Given the description of an element on the screen output the (x, y) to click on. 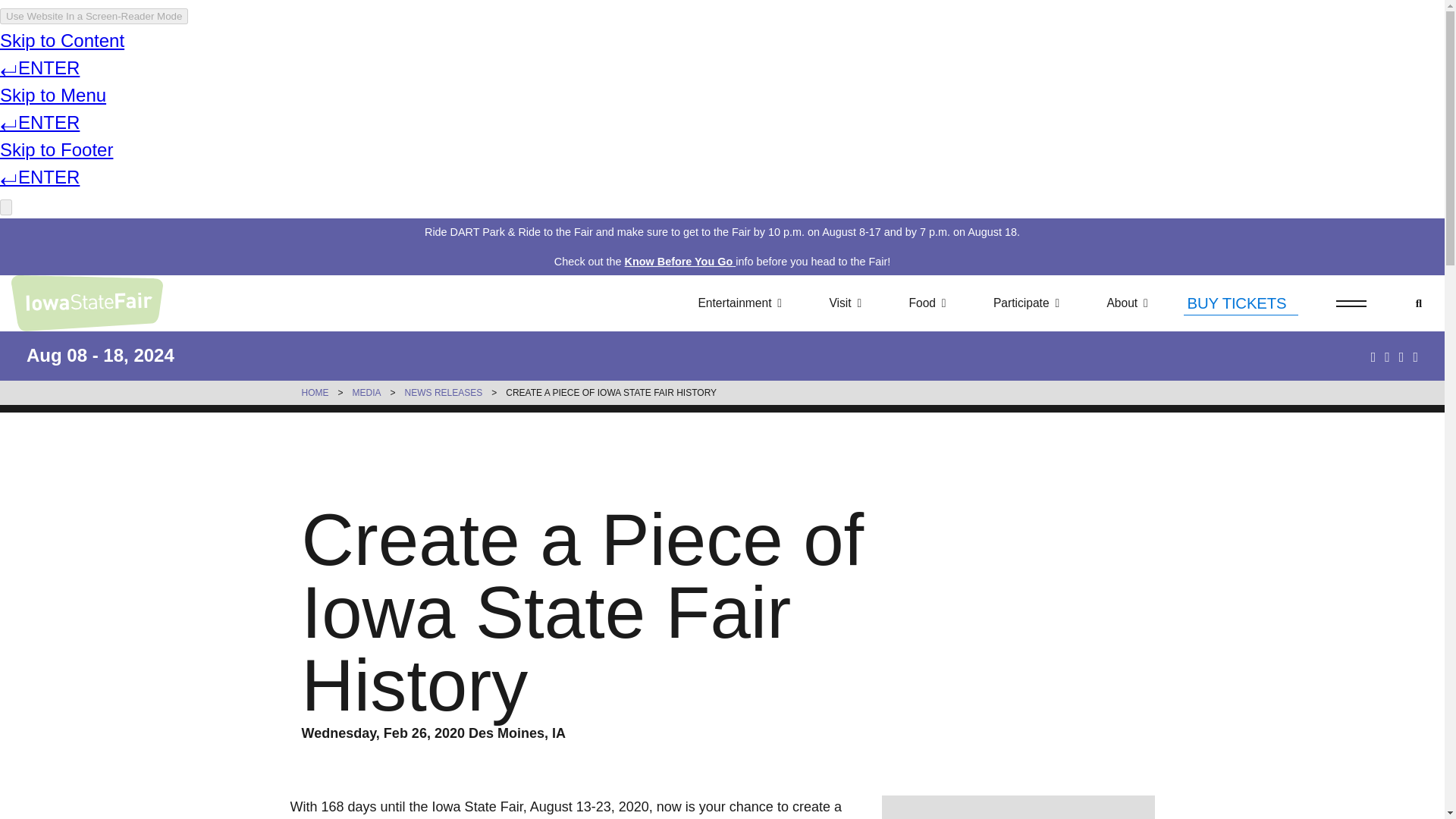
Entertainment (739, 303)
Visit (845, 303)
Food (927, 303)
Participate (1026, 303)
Know Before You Go (678, 261)
